Given the description of an element on the screen output the (x, y) to click on. 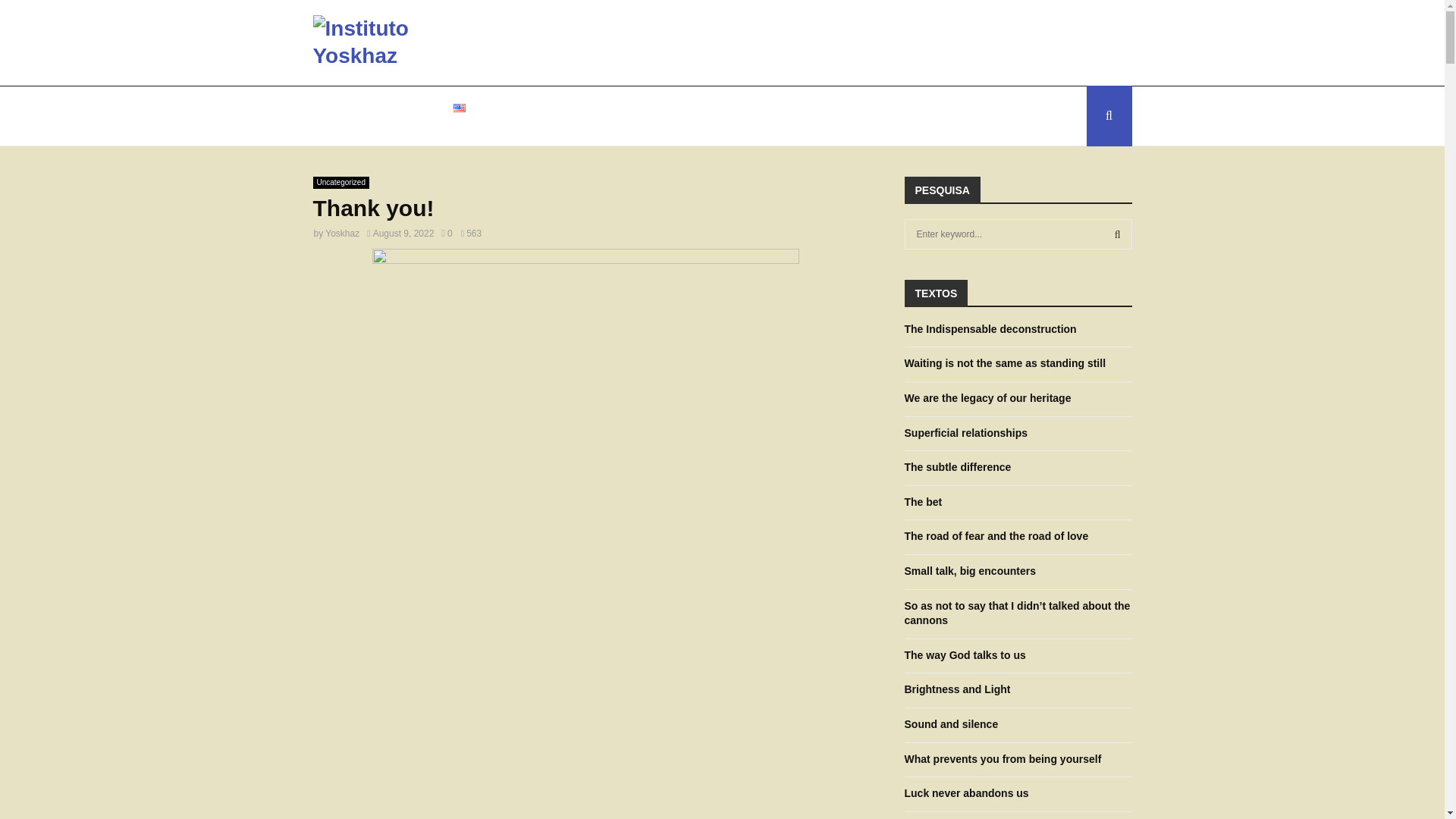
SEARCH (1117, 234)
The Indispensable deconstruction (989, 328)
The road of fear and the road of love (995, 535)
Brightness and Light (957, 689)
CONTACT (400, 115)
BOOKS (576, 115)
Sound and silence (950, 724)
The subtle difference (957, 467)
0 (446, 233)
The way God talks to us (964, 654)
We are the legacy of our heritage (987, 398)
Waiting is not the same as standing still (1004, 363)
ENGLISH (492, 115)
Superficial relationships (965, 432)
The bet (923, 501)
